Given the description of an element on the screen output the (x, y) to click on. 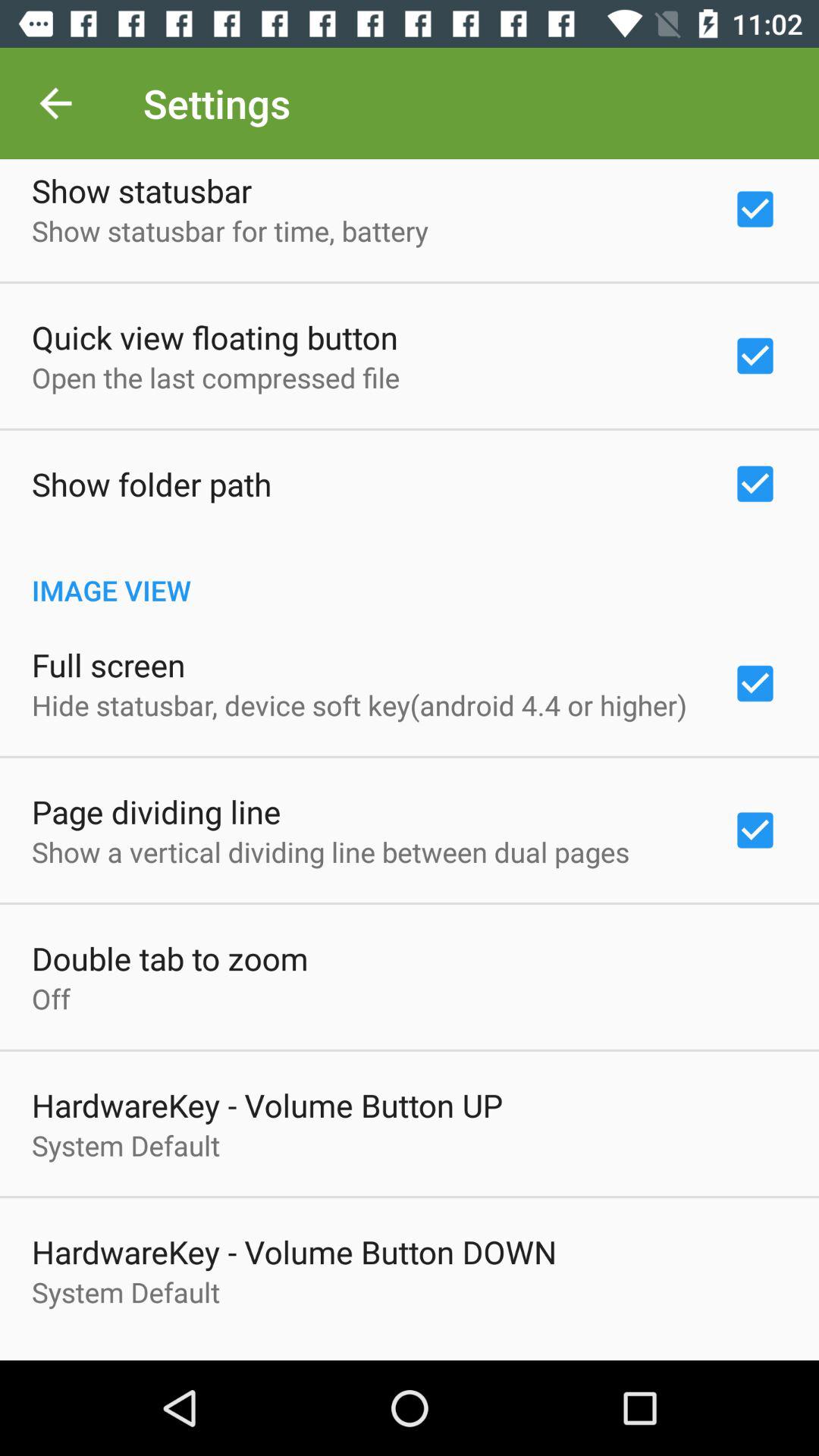
choose the item above double tab to icon (330, 851)
